Given the description of an element on the screen output the (x, y) to click on. 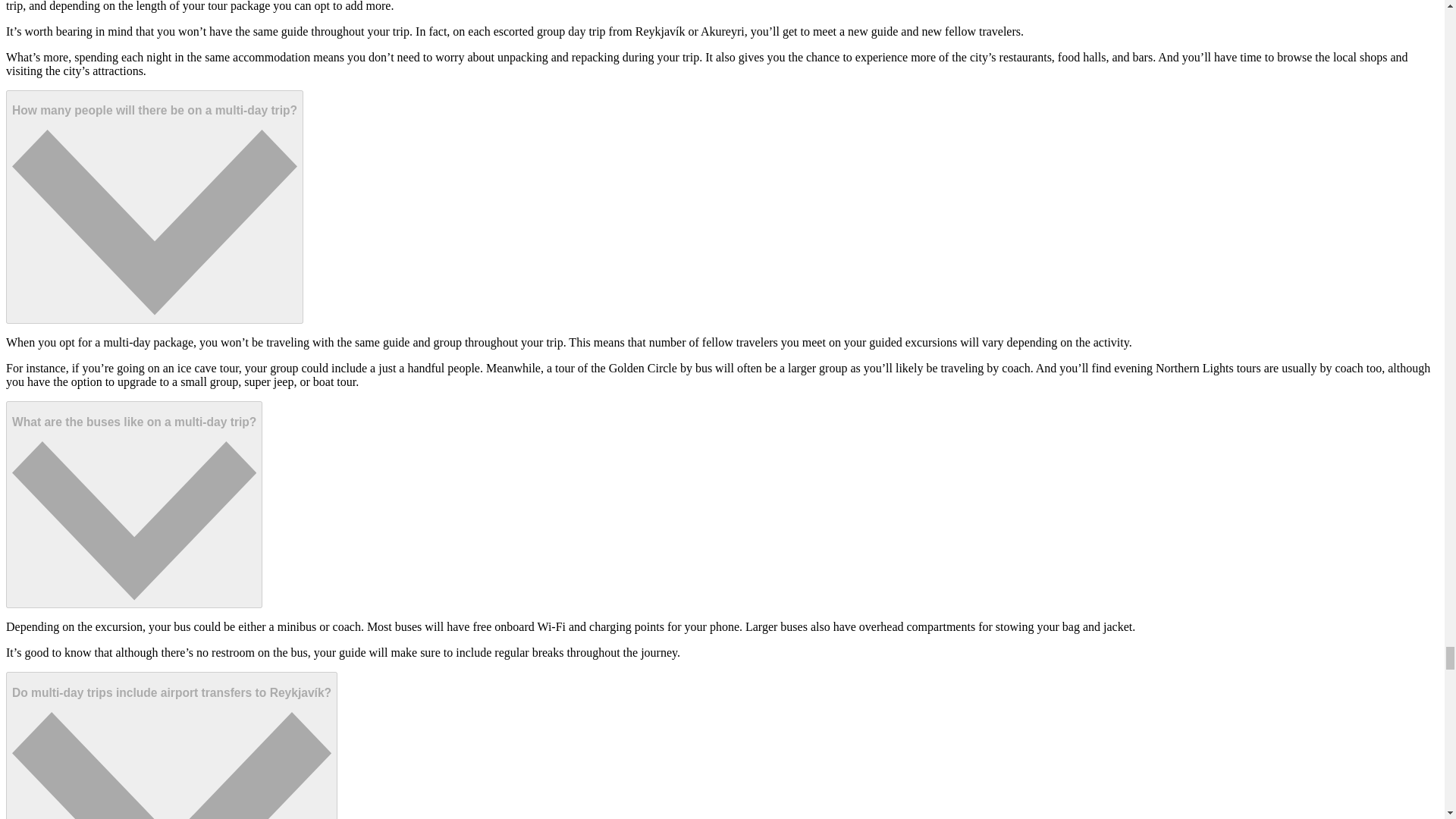
Read more (171, 745)
Read more (153, 207)
Read more (133, 504)
